Given the description of an element on the screen output the (x, y) to click on. 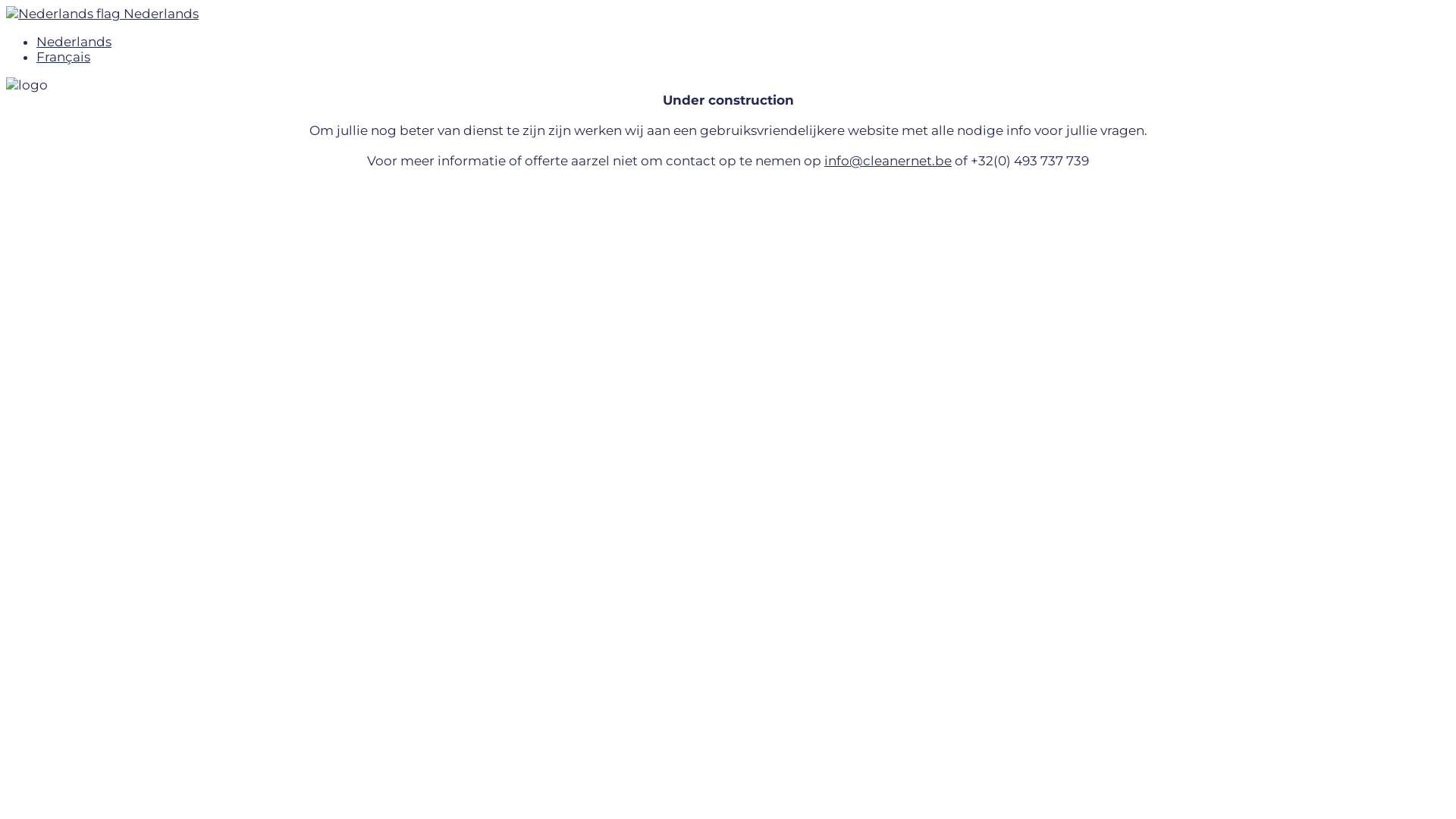
info@cleanernet.be Element type: text (887, 160)
Nederlands Element type: text (102, 13)
Nederlands Element type: text (73, 41)
